Given the description of an element on the screen output the (x, y) to click on. 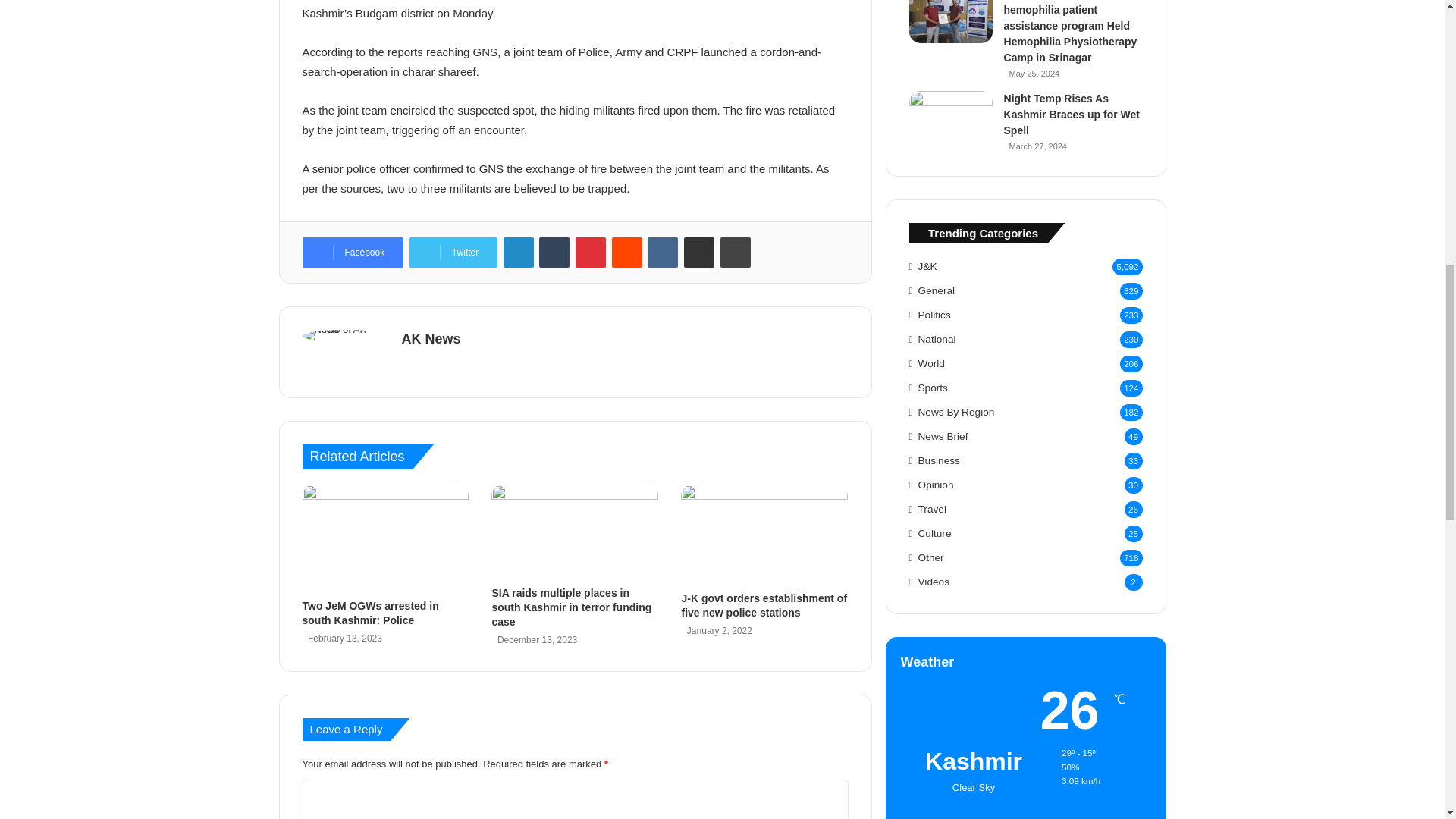
LinkedIn (518, 252)
Tumblr (553, 252)
VKontakte (662, 252)
Facebook (352, 252)
Share via Email (699, 252)
Print (735, 252)
Twitter (453, 252)
Pinterest (590, 252)
Reddit (626, 252)
